Given the description of an element on the screen output the (x, y) to click on. 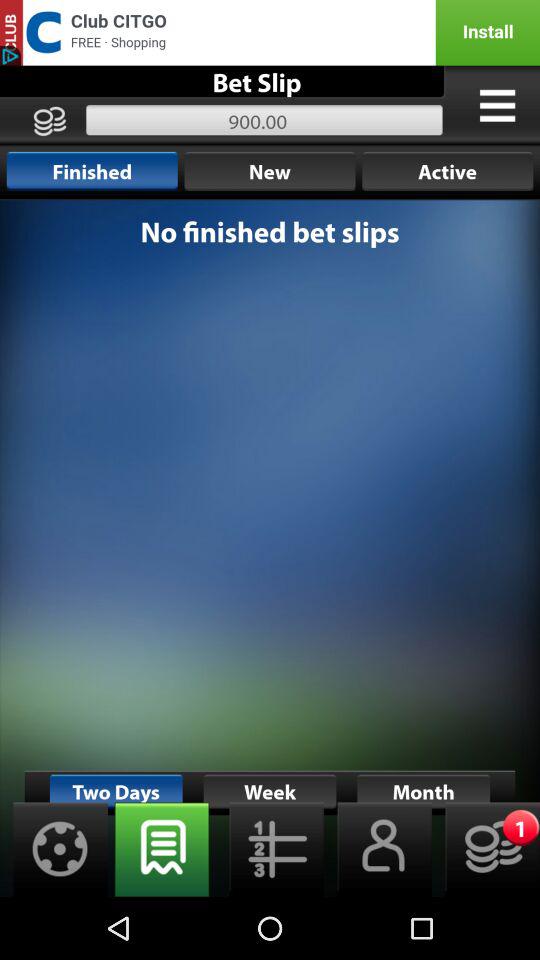
week (161, 849)
